Given the description of an element on the screen output the (x, y) to click on. 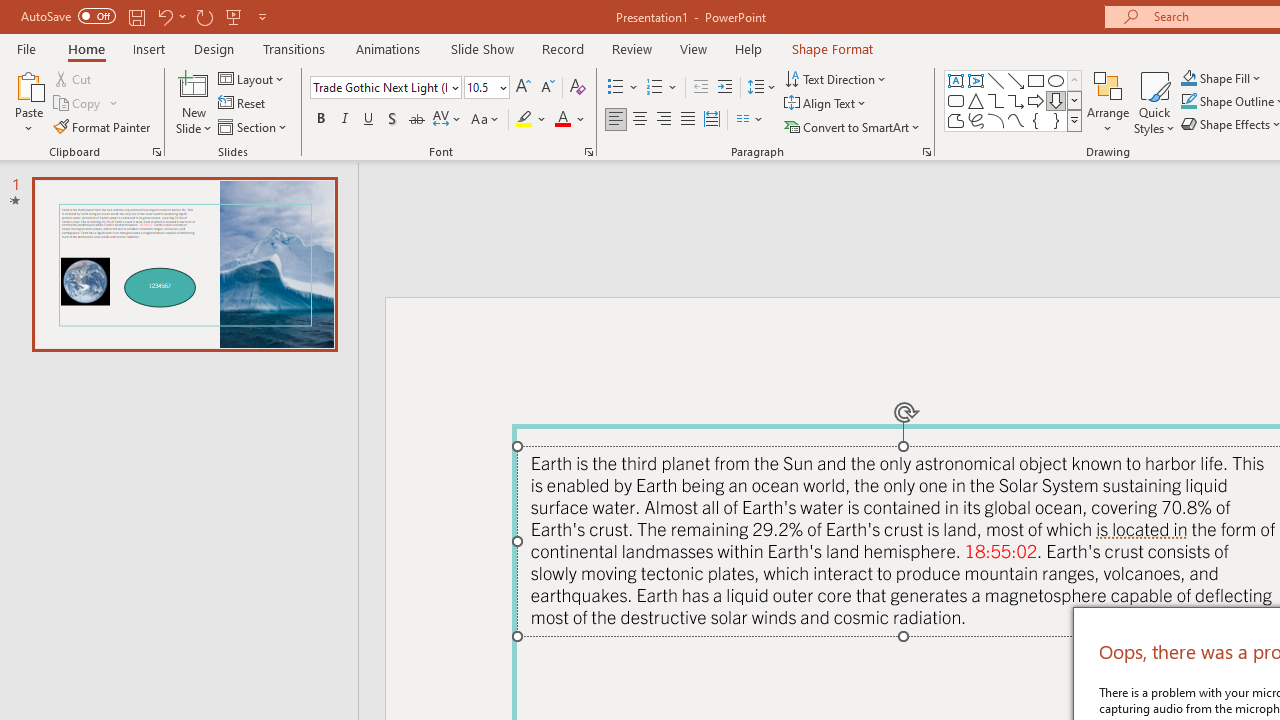
System (10, 11)
Row Down (1074, 100)
Center (639, 119)
File Tab (26, 48)
Decrease Font Size (547, 87)
Copy (78, 103)
Right Brace (1055, 120)
Italic (344, 119)
Convert to SmartArt (853, 126)
More Options (1232, 78)
Clear Formatting (577, 87)
Character Spacing (447, 119)
Shape Outline Teal, Accent 1 (1188, 101)
Reset (243, 103)
Left Brace (1035, 120)
